Given the description of an element on the screen output the (x, y) to click on. 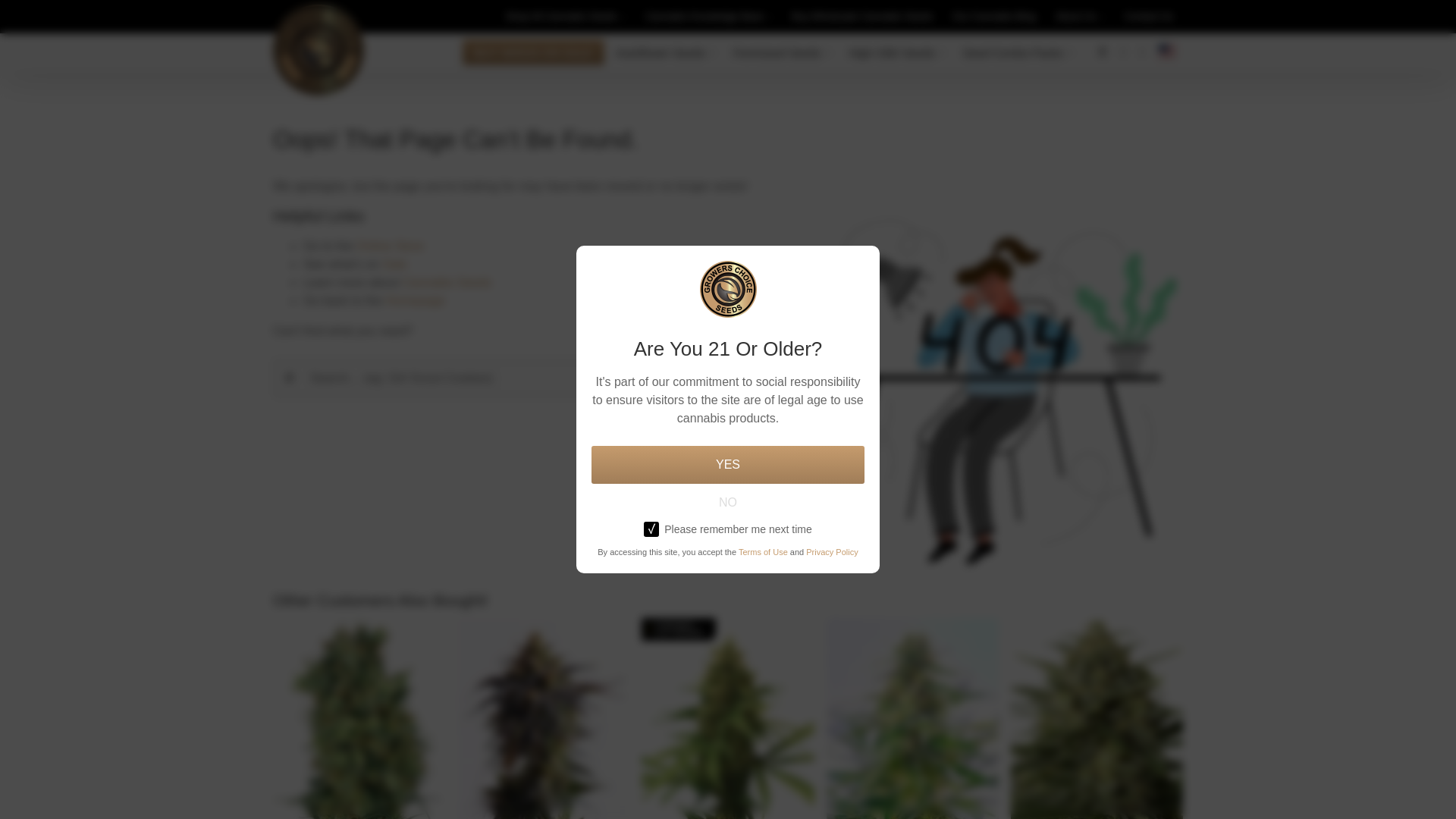
Cannabis Knowledge Base (704, 16)
About Us (1076, 16)
BUY SEEDS ON SALE (533, 52)
Terms of Use (762, 551)
Our Cannabis Blog (993, 16)
Shop All Cannabis Seeds (561, 16)
Privacy Policy (831, 551)
Our Cannabis Blog (993, 16)
Autoflower Seeds (674, 52)
Buy Wholesale Cannabis Seeds (862, 16)
NO (727, 502)
About Growers Choice Cannabis Seeds (1076, 16)
Contact Us (1148, 16)
Shop All Cannabis Seeds (561, 16)
YES (727, 464)
